Given the description of an element on the screen output the (x, y) to click on. 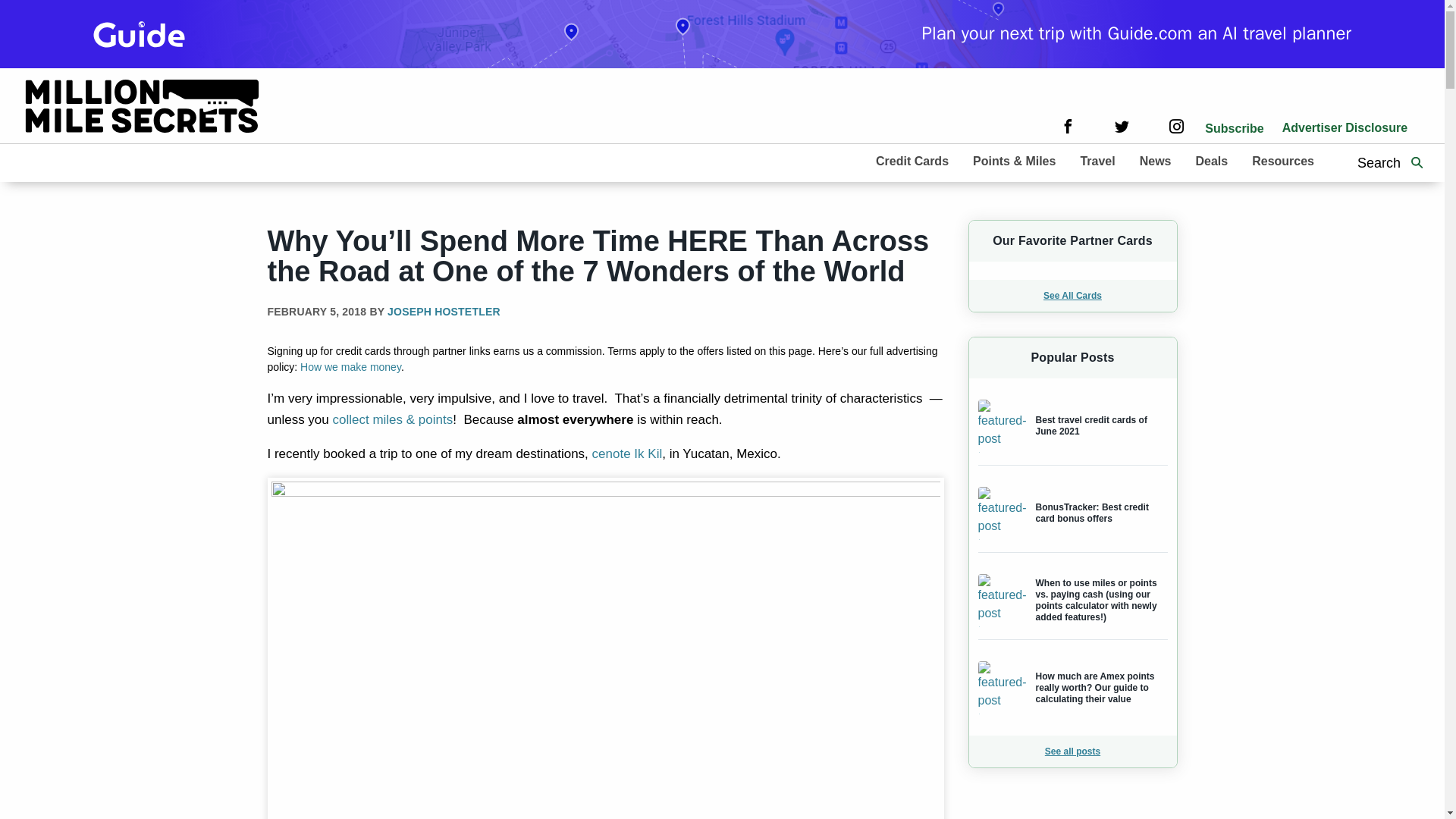
mms-logo-2 (142, 108)
Deals (1211, 160)
Search (1417, 162)
Resources (1283, 160)
Subscribe (1234, 128)
JOSEPH HOSTETLER (443, 311)
How we make money (350, 367)
mms-logo-2 (142, 105)
News (1154, 160)
